Given the description of an element on the screen output the (x, y) to click on. 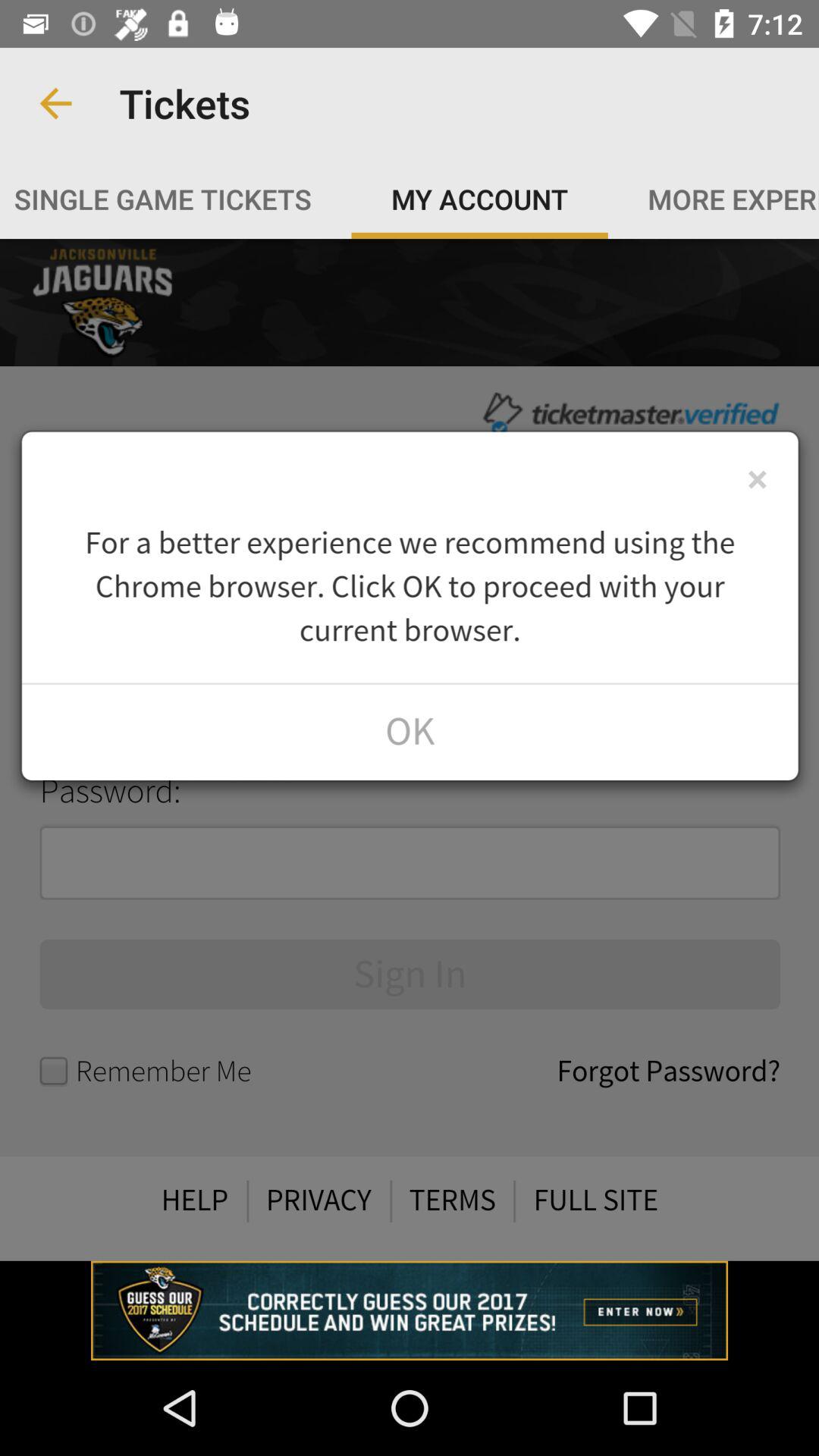
show profile (409, 749)
